Given the description of an element on the screen output the (x, y) to click on. 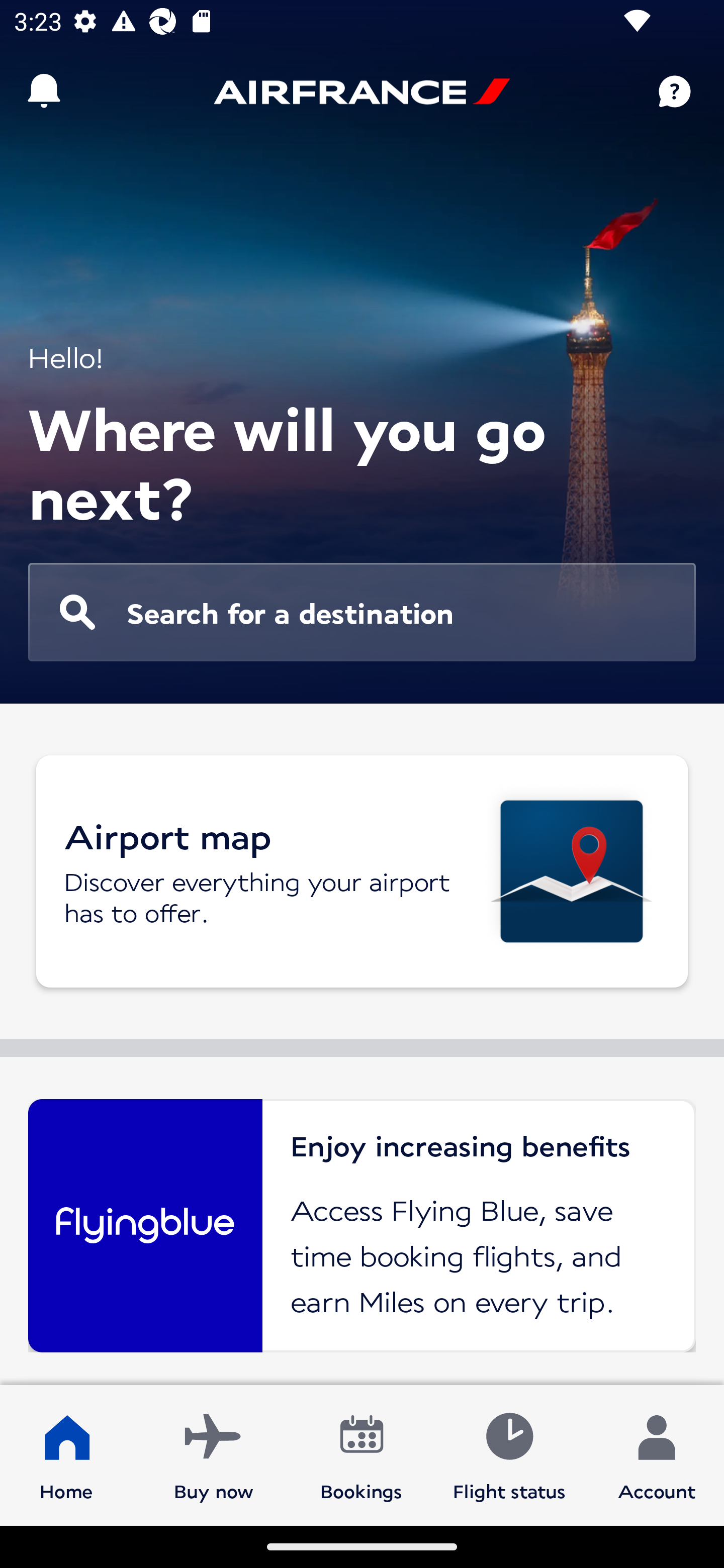
Search for a destination (361, 611)
Buy now (213, 1454)
Bookings (361, 1454)
Flight status (509, 1454)
Account (657, 1454)
